Given the description of an element on the screen output the (x, y) to click on. 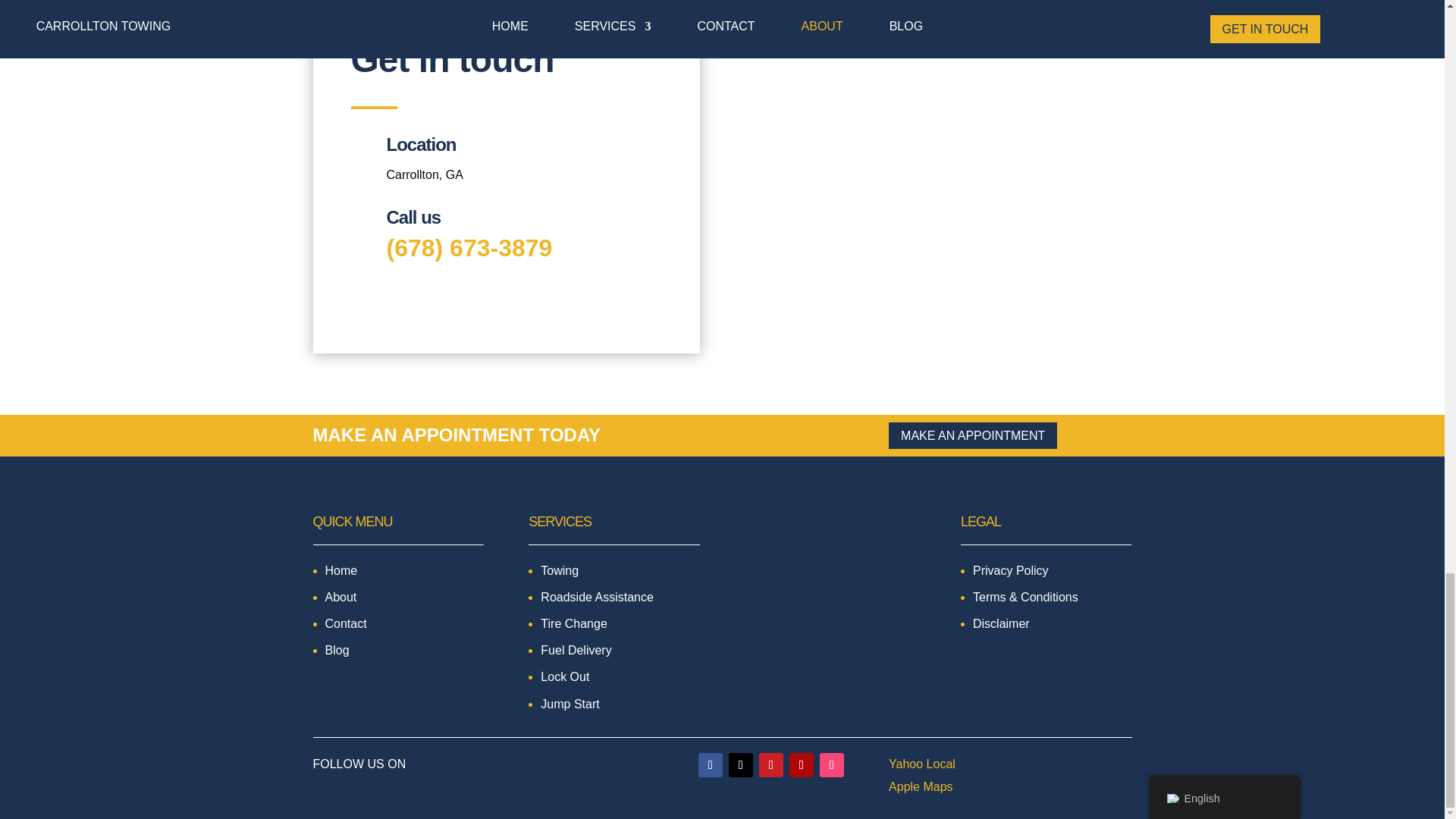
Jump Start (569, 703)
Lock Out (564, 676)
Follow on Pinterest (770, 764)
Privacy Policy (1010, 570)
Blog (336, 649)
Follow on Foursquare (831, 764)
Home (340, 570)
Contact (345, 623)
Follow on X (740, 764)
About (340, 596)
